Given the description of an element on the screen output the (x, y) to click on. 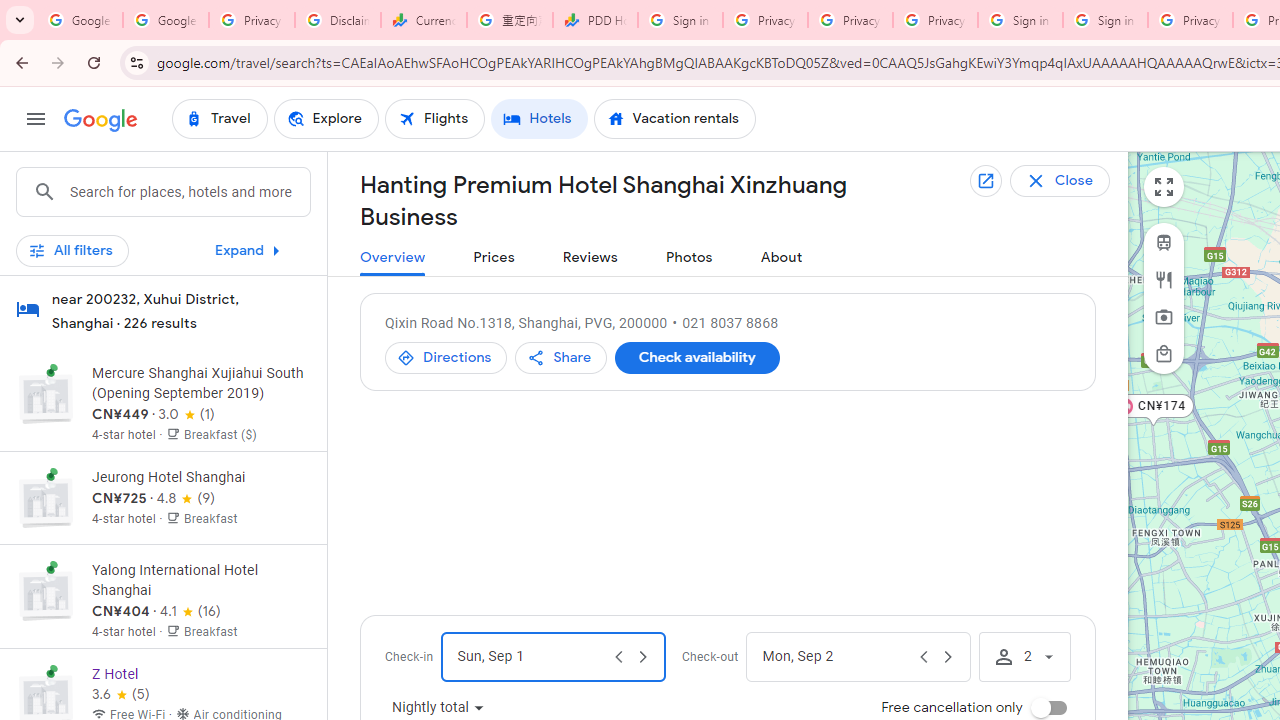
Check-in (530, 656)
Check-out (836, 656)
View prices for Yalong International Hotel Shanghai (200, 671)
Google Workspace Admin Community (79, 20)
View larger map (1164, 187)
PDD Holdings Inc - ADR (PDD) Price & News - Google Finance (595, 20)
3 out of 5 stars from 1 reviews (186, 414)
Price displayedNightly total (438, 708)
View prices for Jeurong Hotel Shanghai (200, 567)
